Given the description of an element on the screen output the (x, y) to click on. 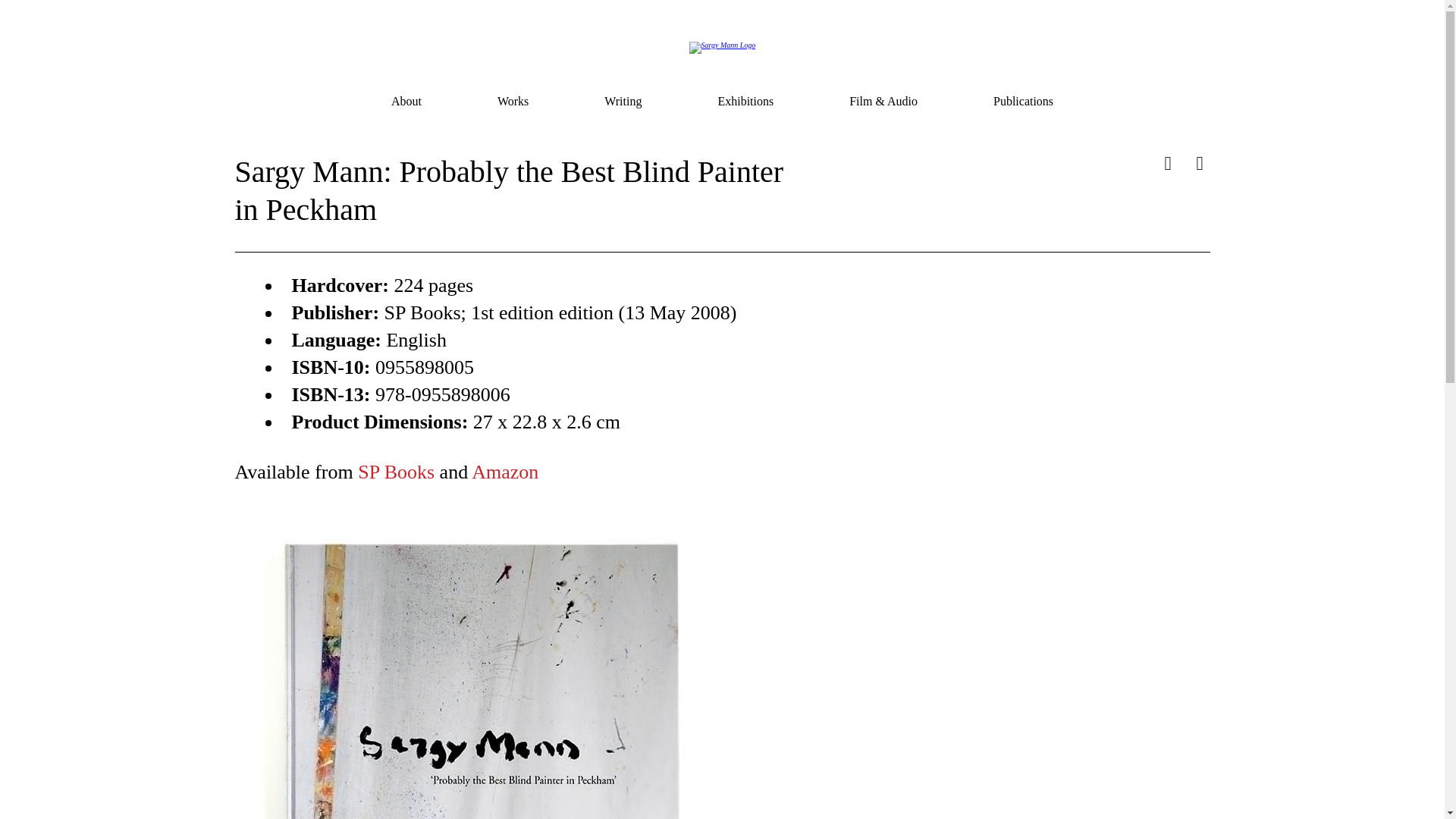
Writing (623, 101)
Exhibitions (745, 101)
Amazon (504, 472)
About (406, 101)
Works (512, 101)
Publications (1022, 101)
SP Books (395, 472)
Sargy Mann (721, 47)
